Given the description of an element on the screen output the (x, y) to click on. 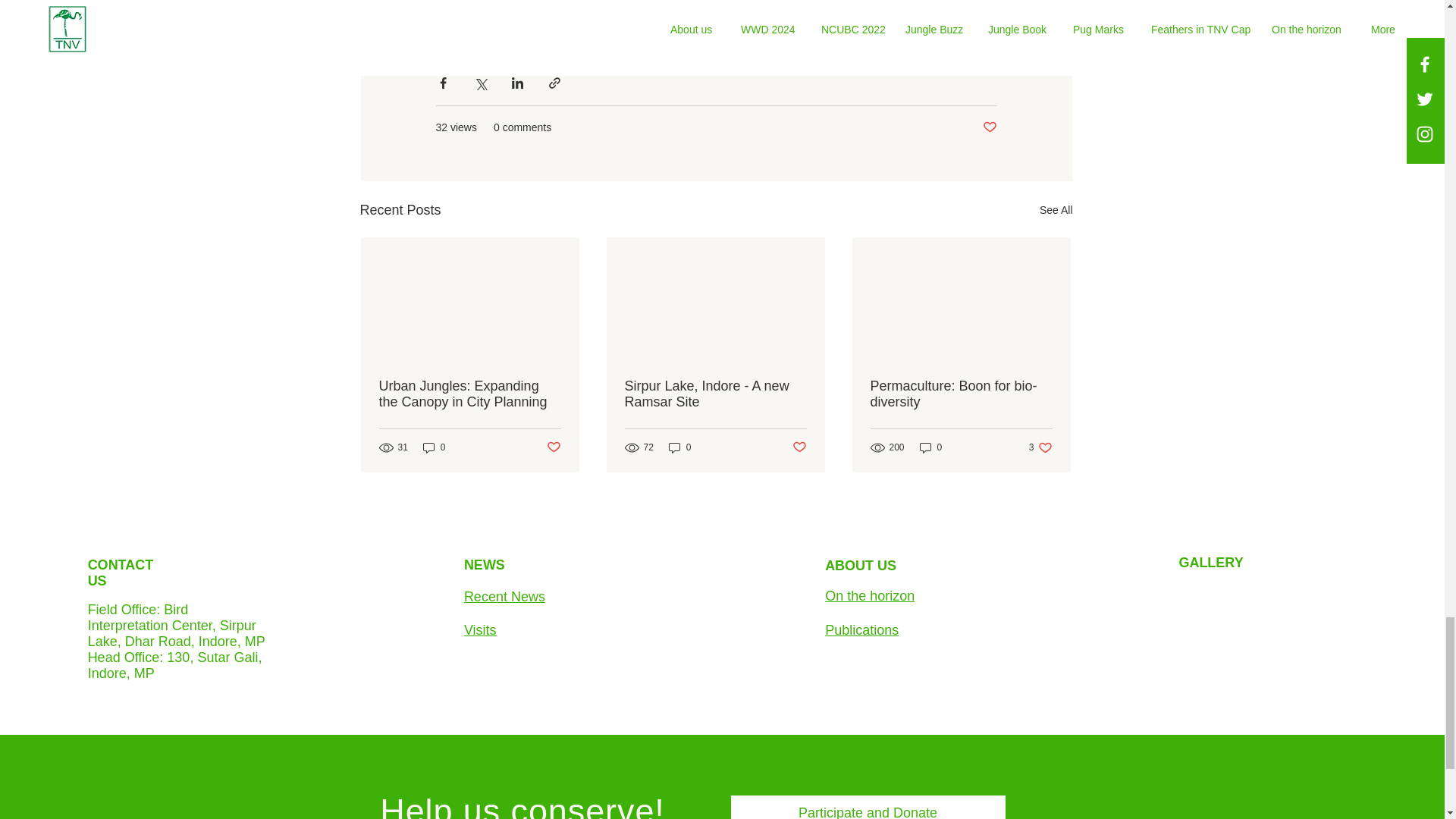
Post not marked as liked (989, 127)
See All (1056, 210)
Sirpur Lake, Indore - A new Ramsar Site (715, 394)
Urban Jungles: Expanding the Canopy in City Planning (469, 394)
0 (679, 446)
Post not marked as liked (553, 447)
0 (434, 446)
